Given the description of an element on the screen output the (x, y) to click on. 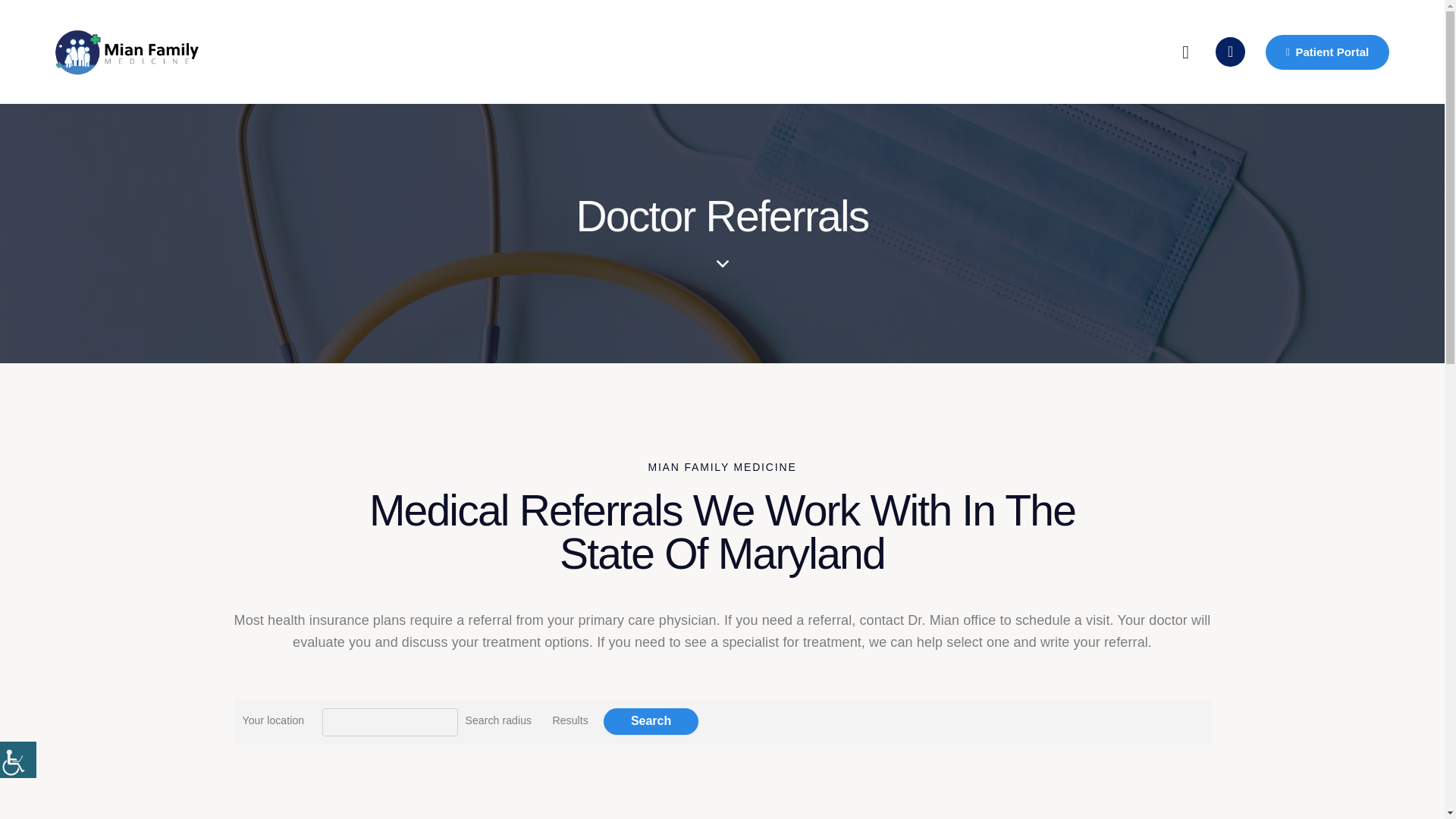
Accessibility Helper sidebar (18, 760)
Patient Portal (1327, 52)
Search (651, 721)
